Given the description of an element on the screen output the (x, y) to click on. 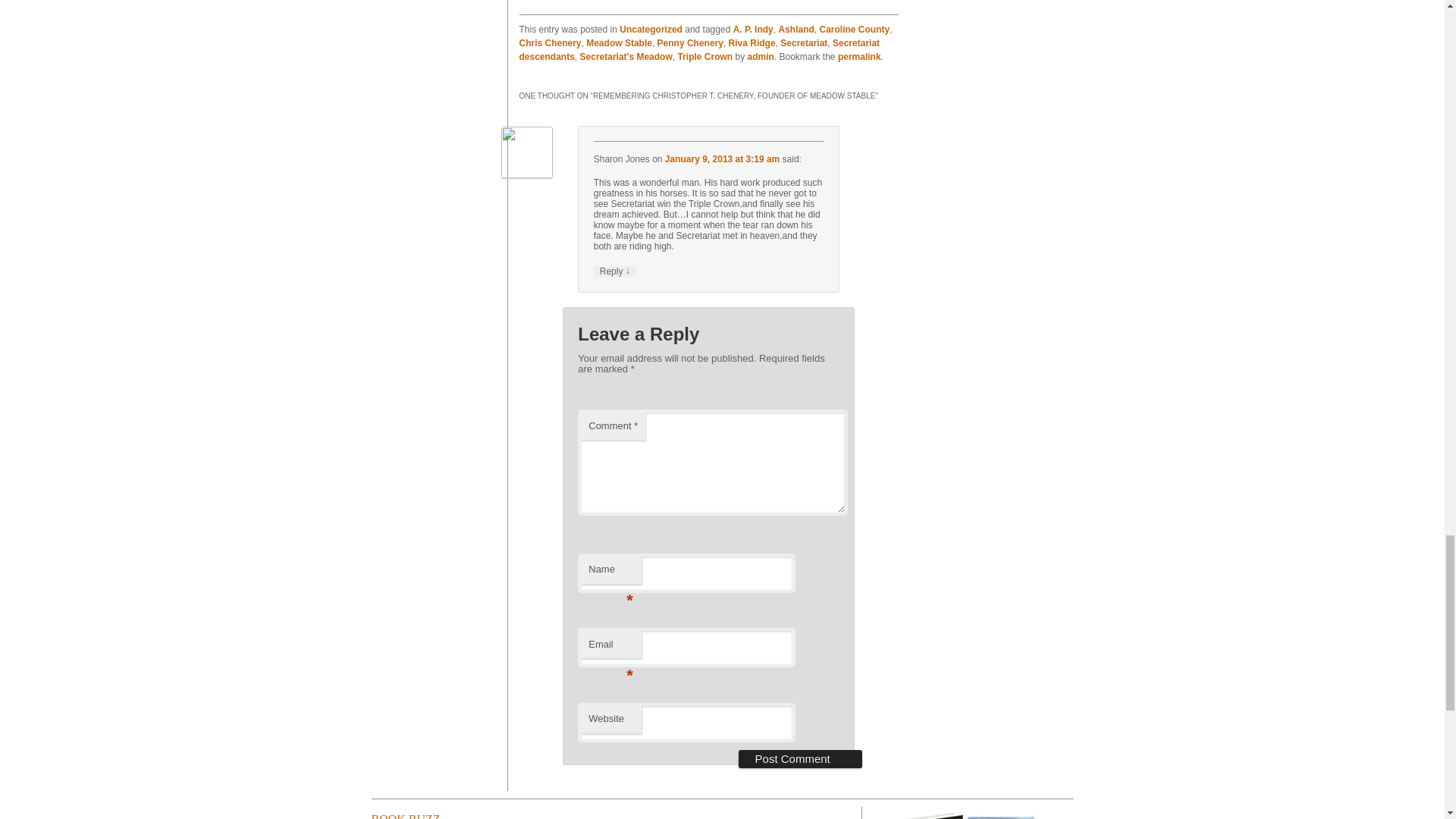
Meadow Stable (619, 42)
Caroline County (853, 29)
Uncategorized (651, 29)
Chris Chenery (549, 42)
A. P. Indy (753, 29)
Post Comment (799, 759)
Ashland (795, 29)
